Given the description of an element on the screen output the (x, y) to click on. 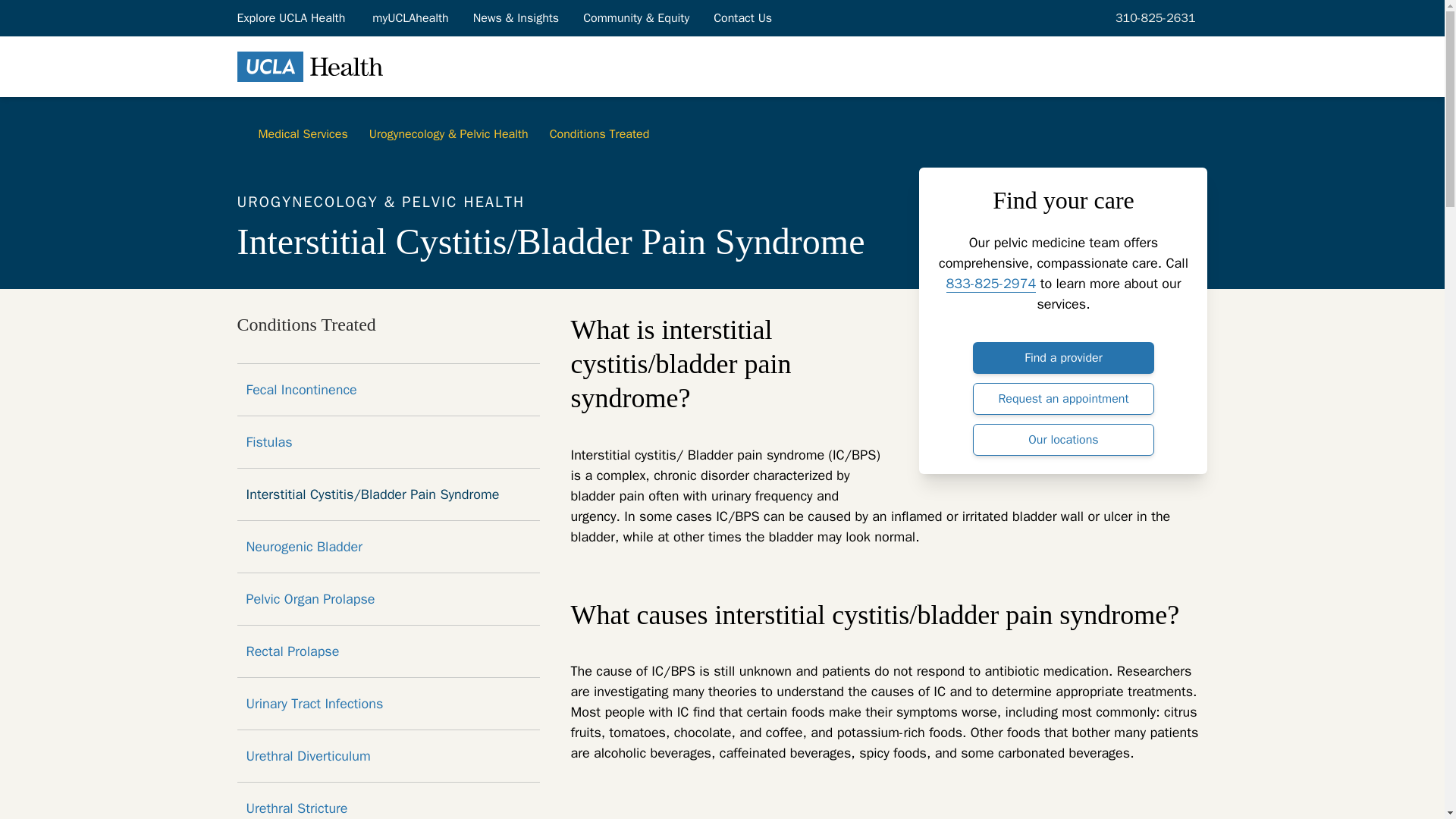
Contact Us (742, 17)
Explore UCLA Health (291, 17)
310-825-2631 (1152, 17)
myUCLAhealth Login. (409, 17)
myUCLAhealth (409, 17)
